Given the description of an element on the screen output the (x, y) to click on. 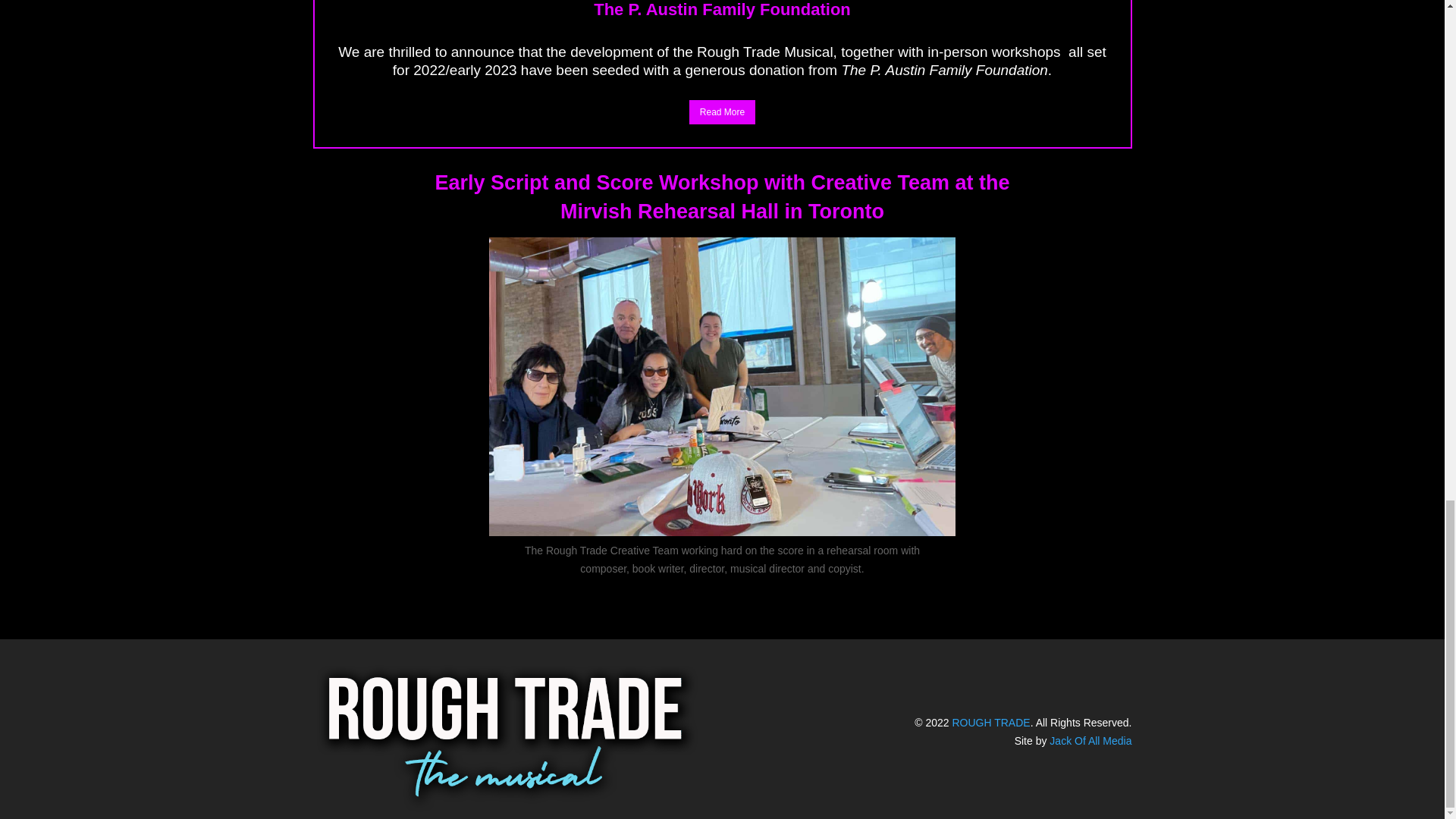
Jack Of All Media (1090, 740)
ROUGH TRADE (990, 722)
Read More (721, 111)
